Given the description of an element on the screen output the (x, y) to click on. 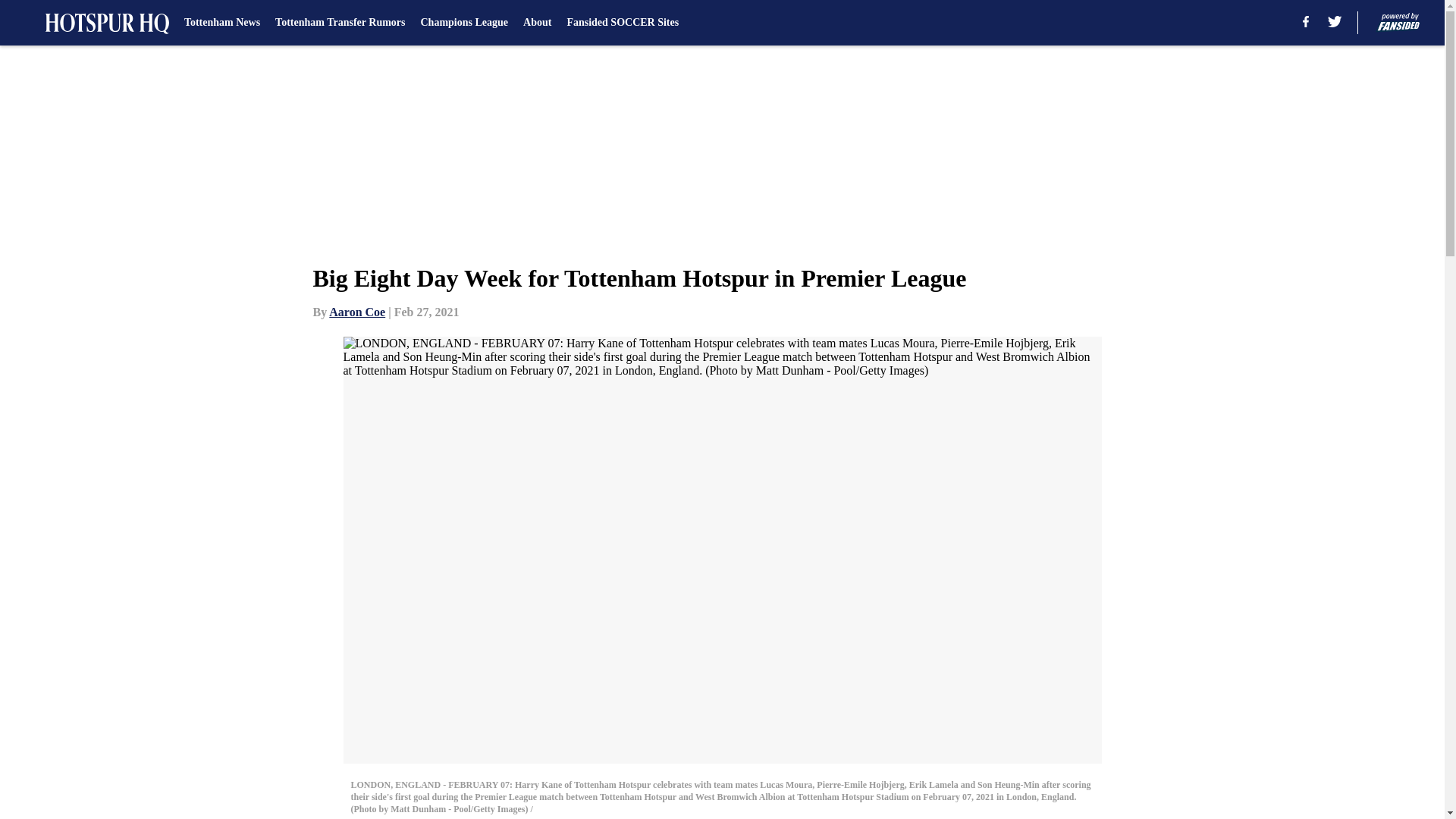
Aaron Coe (357, 311)
Champions League (464, 22)
Tottenham News (222, 22)
Fansided SOCCER Sites (622, 22)
Tottenham Transfer Rumors (339, 22)
About (536, 22)
